Given the description of an element on the screen output the (x, y) to click on. 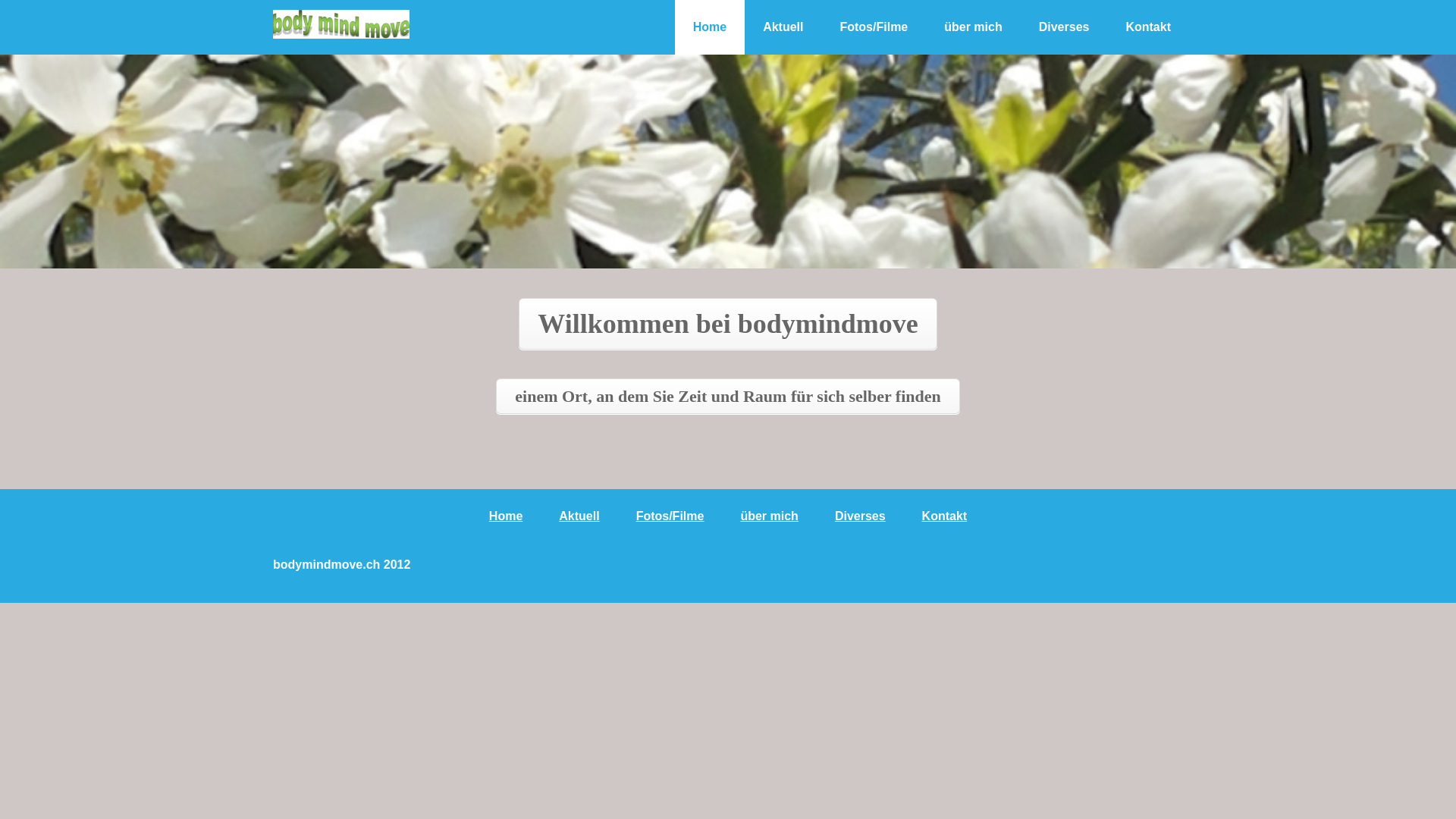
Diverses Element type: text (1063, 27)
Home Element type: text (709, 27)
Fotos/Filme Element type: text (873, 27)
Willkommen bei bodymindmove Element type: text (727, 323)
Kontakt Element type: text (1148, 27)
Fotos/Filme Element type: text (670, 516)
Aktuell Element type: text (782, 27)
Aktuell Element type: text (578, 516)
Kontakt Element type: text (944, 516)
Diverses Element type: text (859, 516)
Home Element type: text (505, 516)
